Given the description of an element on the screen output the (x, y) to click on. 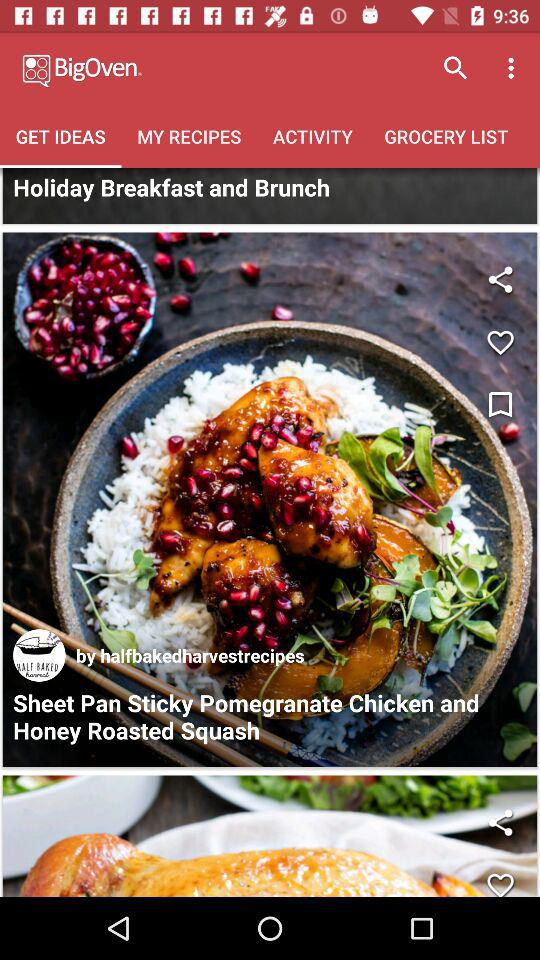
turn on by halfbakedharvestrecipes (190, 655)
